Given the description of an element on the screen output the (x, y) to click on. 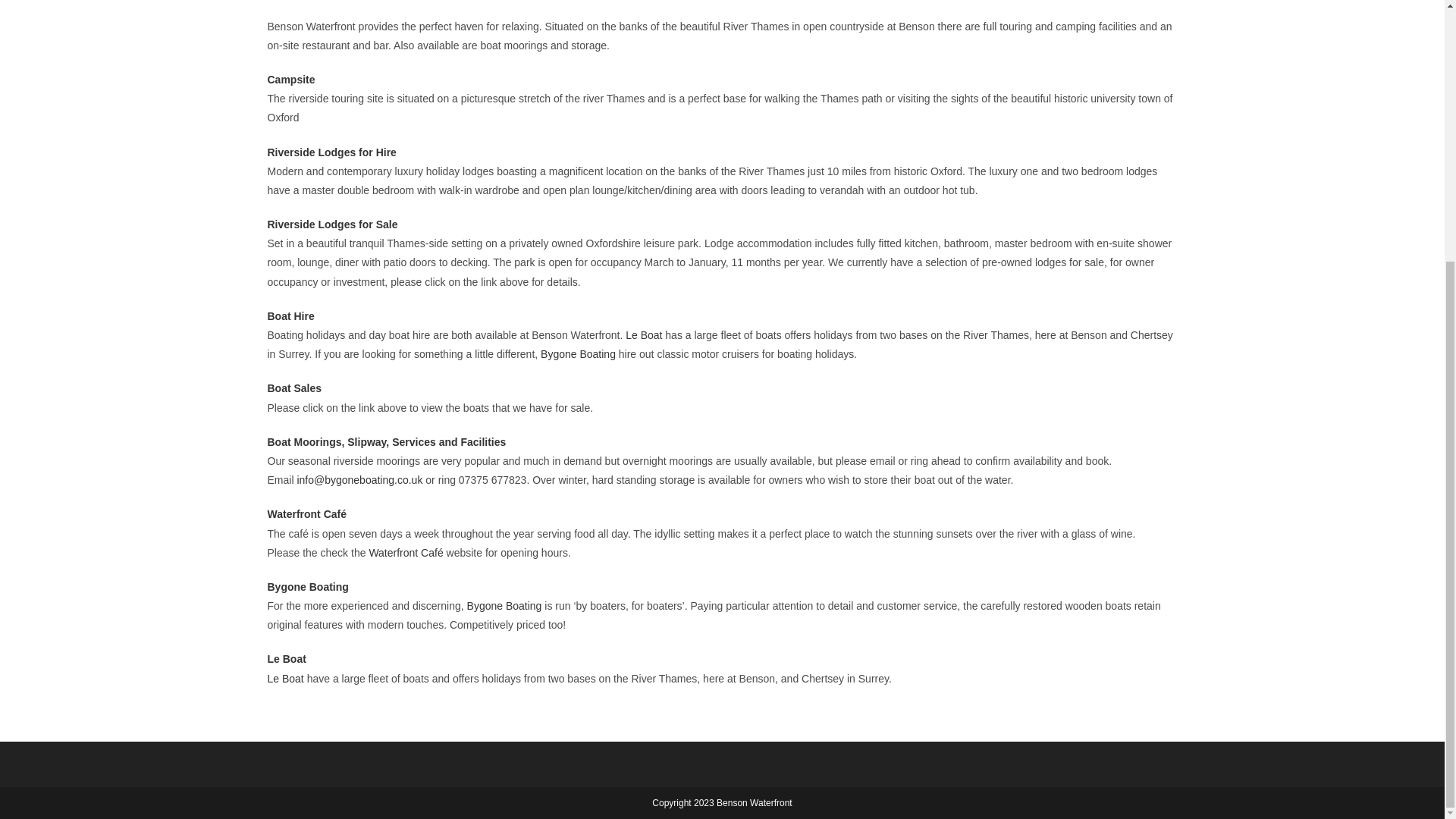
Campsite (290, 79)
Bygone Boating (577, 354)
Le Boat (285, 658)
Boat Moorings, Slipway, Services and Facilities (385, 441)
Bygone Boating (504, 605)
Le Boat (644, 335)
Riverside Lodges for Sale (331, 224)
Le Boat (284, 678)
Bygone Boating (306, 586)
Riverside Lodges for Hire (331, 152)
Boat Sales (293, 387)
